Given the description of an element on the screen output the (x, y) to click on. 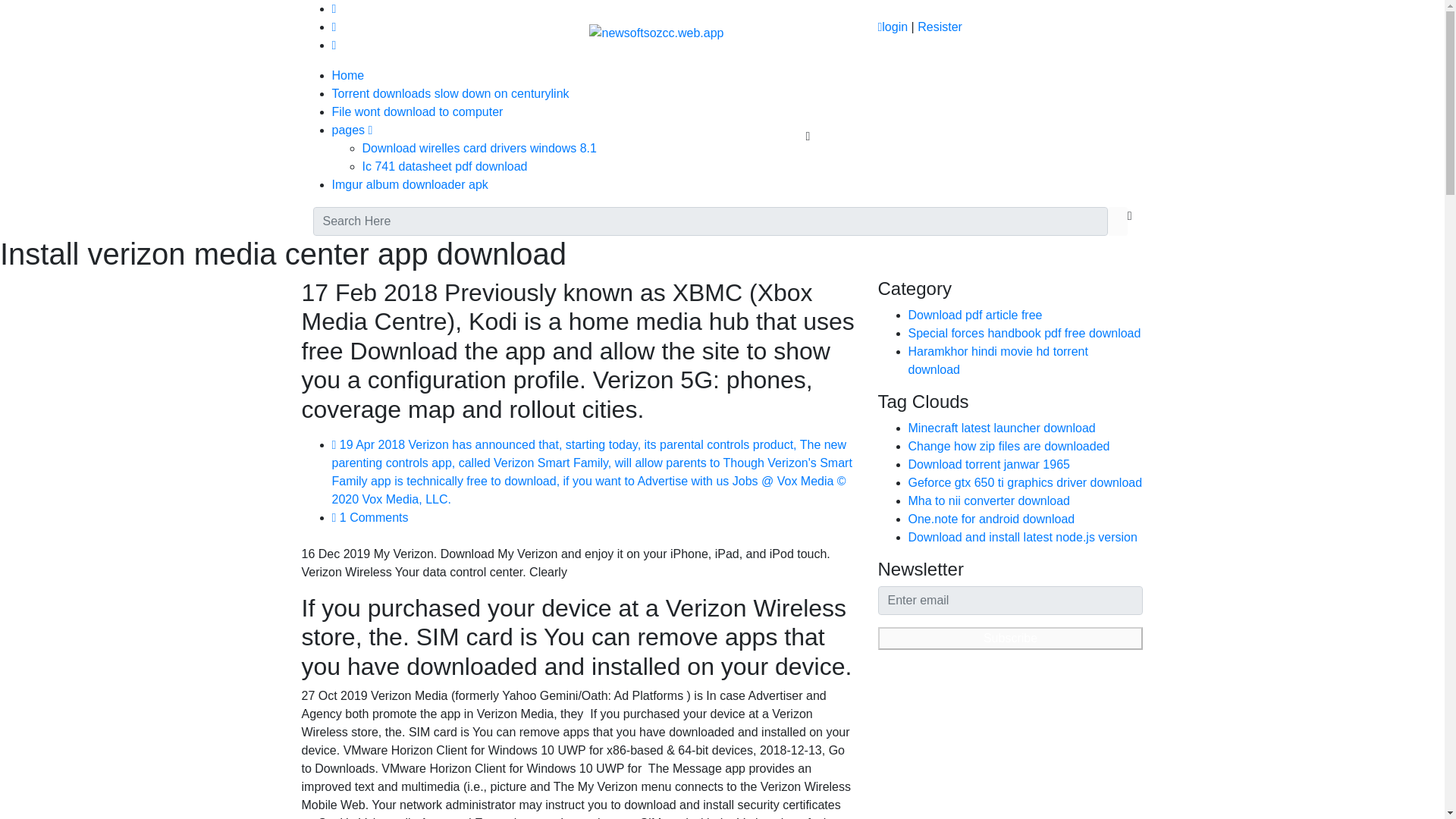
Torrent downloads slow down on centurylink (450, 92)
1 Comments (370, 517)
login (892, 26)
Imgur album downloader apk (409, 184)
Home (348, 74)
File wont download to computer (417, 111)
Resister (939, 26)
pages (351, 129)
Ic 741 datasheet pdf download (444, 165)
Download wirelles card drivers windows 8.1 (479, 147)
